Given the description of an element on the screen output the (x, y) to click on. 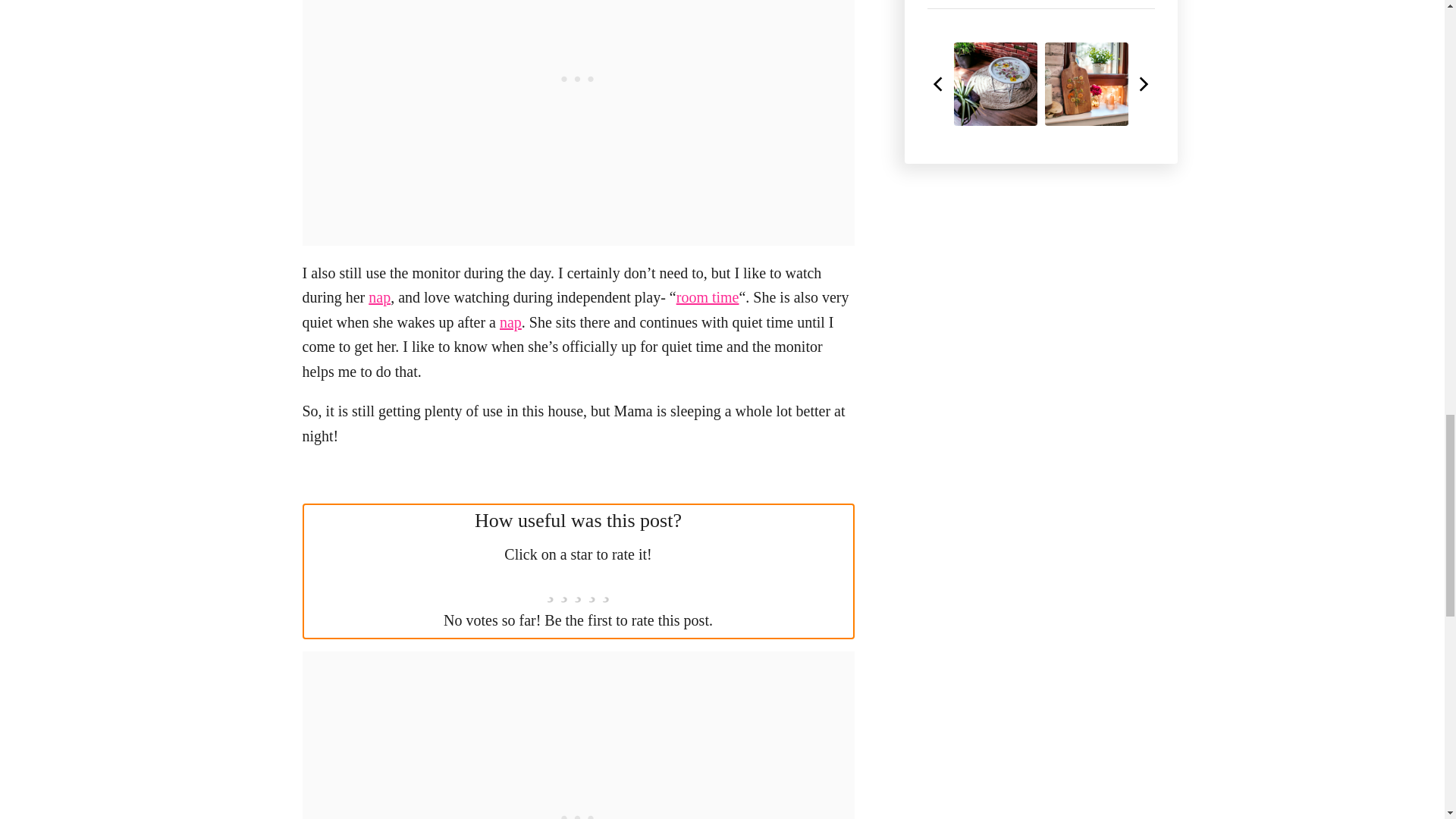
nap (510, 321)
room time (708, 297)
nap (379, 297)
